Given the description of an element on the screen output the (x, y) to click on. 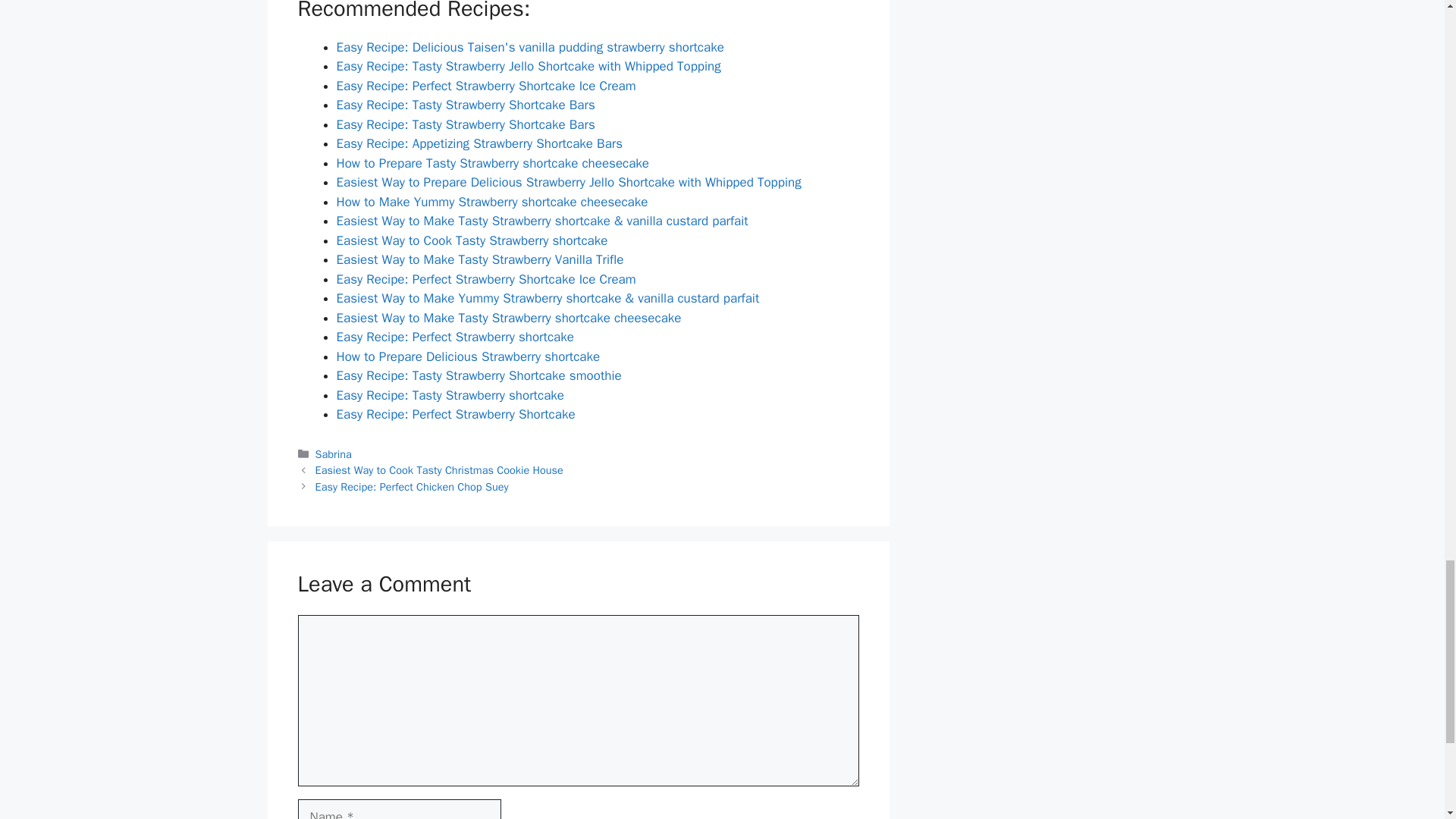
Easiest Way to Cook Tasty Strawberry shortcake (472, 240)
Easiest Way to Cook Tasty Christmas Cookie House (439, 469)
How to Prepare Delicious Strawberry shortcake (467, 356)
How to Make Yummy Strawberry shortcake cheesecake (491, 201)
Easy Recipe: Tasty Strawberry Shortcake Bars (465, 105)
Easy Recipe: Tasty Strawberry Shortcake Bars (465, 124)
How to Prepare Tasty Strawberry shortcake cheesecake (492, 163)
Easy Recipe: Perfect Strawberry shortcake (454, 336)
